Given the description of an element on the screen output the (x, y) to click on. 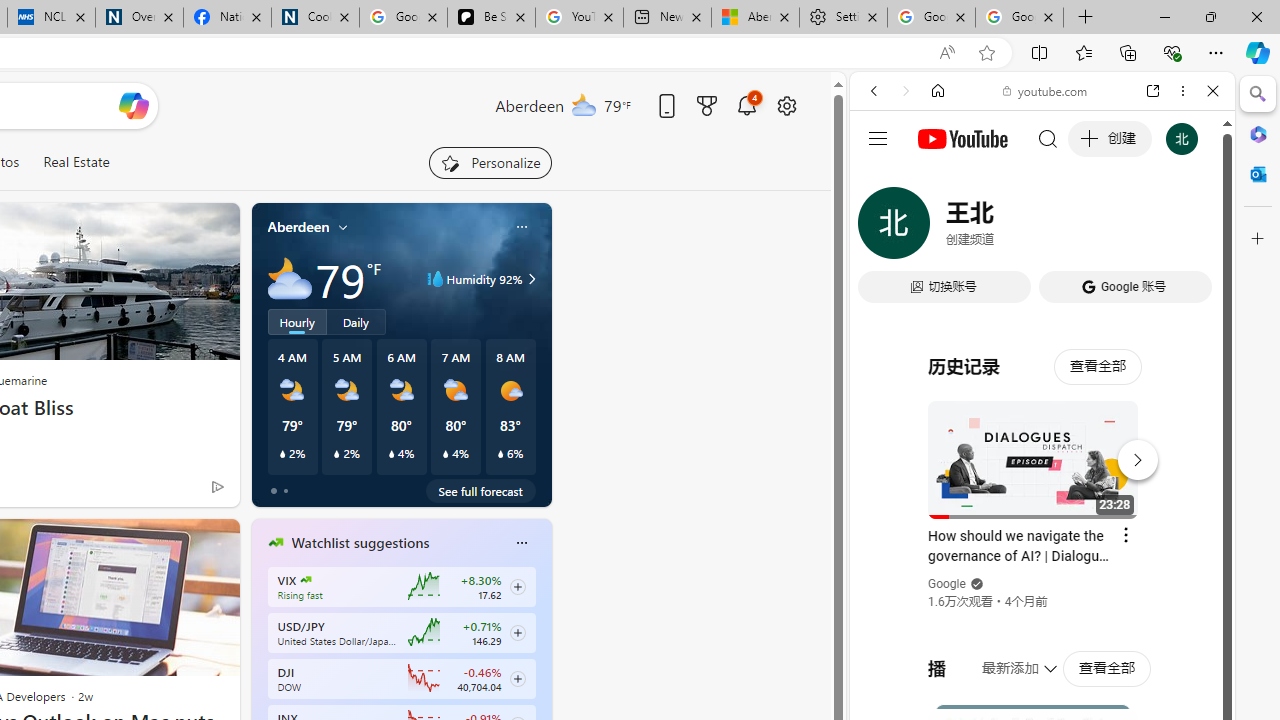
previous (261, 670)
Mostly cloudy (289, 278)
